Given the description of an element on the screen output the (x, y) to click on. 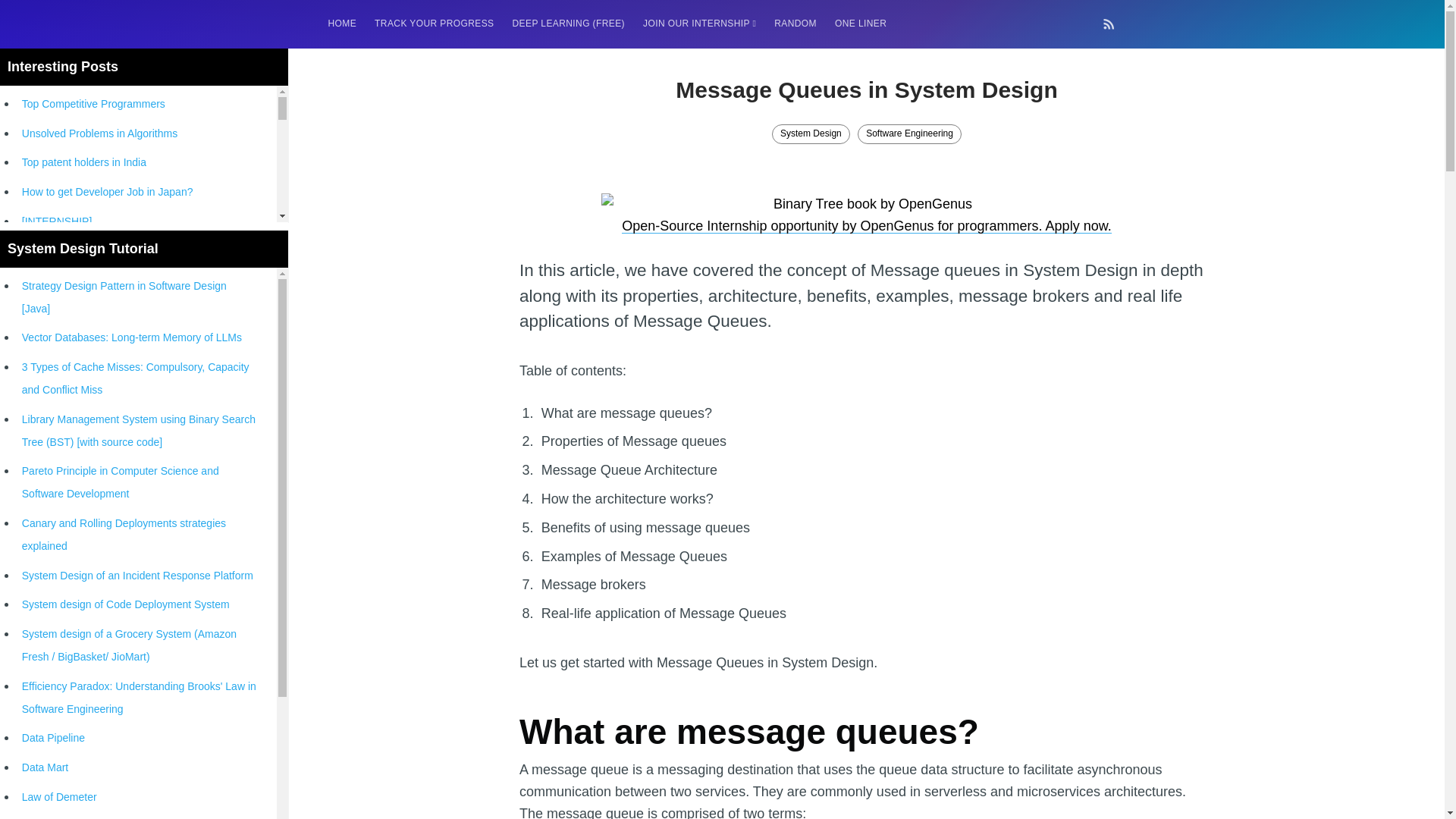
STORY: Inventor of Linked List (94, 625)
ONE LINER (860, 23)
Vector Databases: Long-term Memory of LLMs (131, 337)
Practice Interview Questions (88, 655)
Software Engineering (908, 134)
TRACK YOUR PROGRESS (433, 23)
HOME (341, 23)
Unsolved Problems in Algorithms (99, 133)
How to earn by filing Patents? (92, 280)
